Given the description of an element on the screen output the (x, y) to click on. 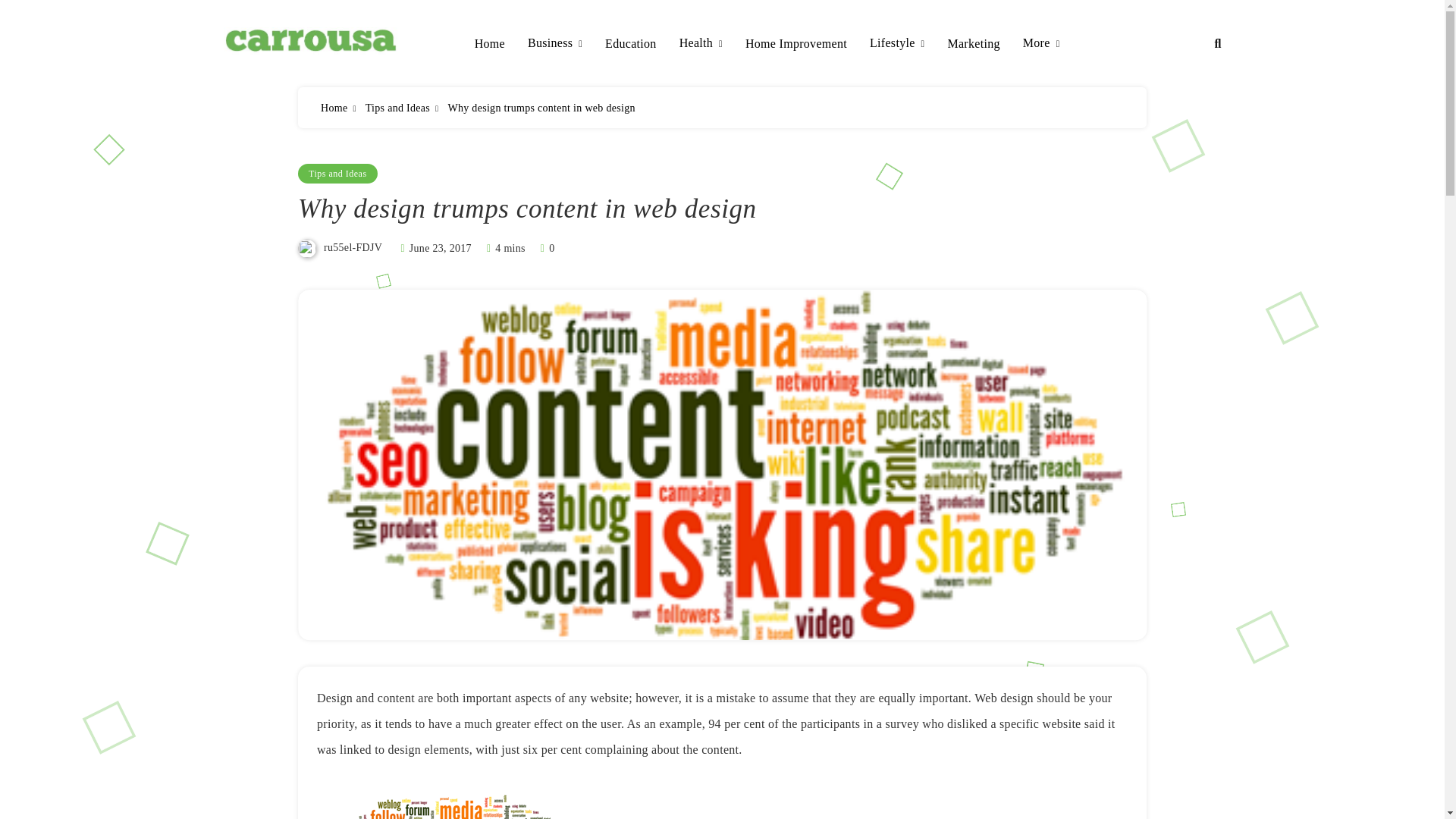
More (1041, 43)
Home Improvement (796, 44)
CARROUSSA (307, 76)
Health (700, 43)
Home (333, 107)
Business (554, 43)
Education (630, 44)
Tips and Ideas (397, 107)
June 23, 2017 (440, 247)
Home (489, 44)
Marketing (972, 44)
ru55el-FDJV (352, 247)
Lifestyle (896, 43)
Tips and Ideas (337, 173)
